Given the description of an element on the screen output the (x, y) to click on. 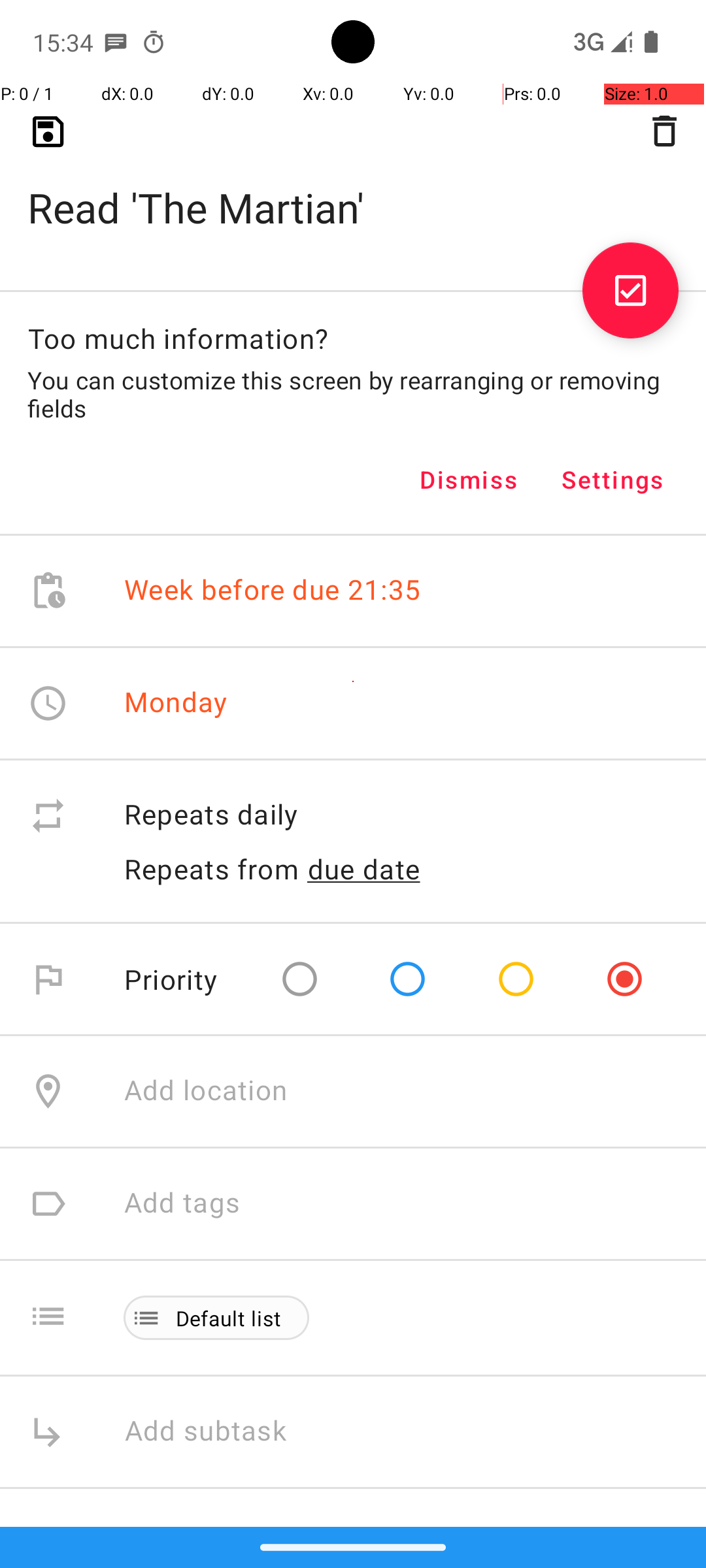
Week before due 21:35 Element type: android.widget.TextView (272, 590)
Repeats daily Element type: android.widget.TextView (400, 815)
